Given the description of an element on the screen output the (x, y) to click on. 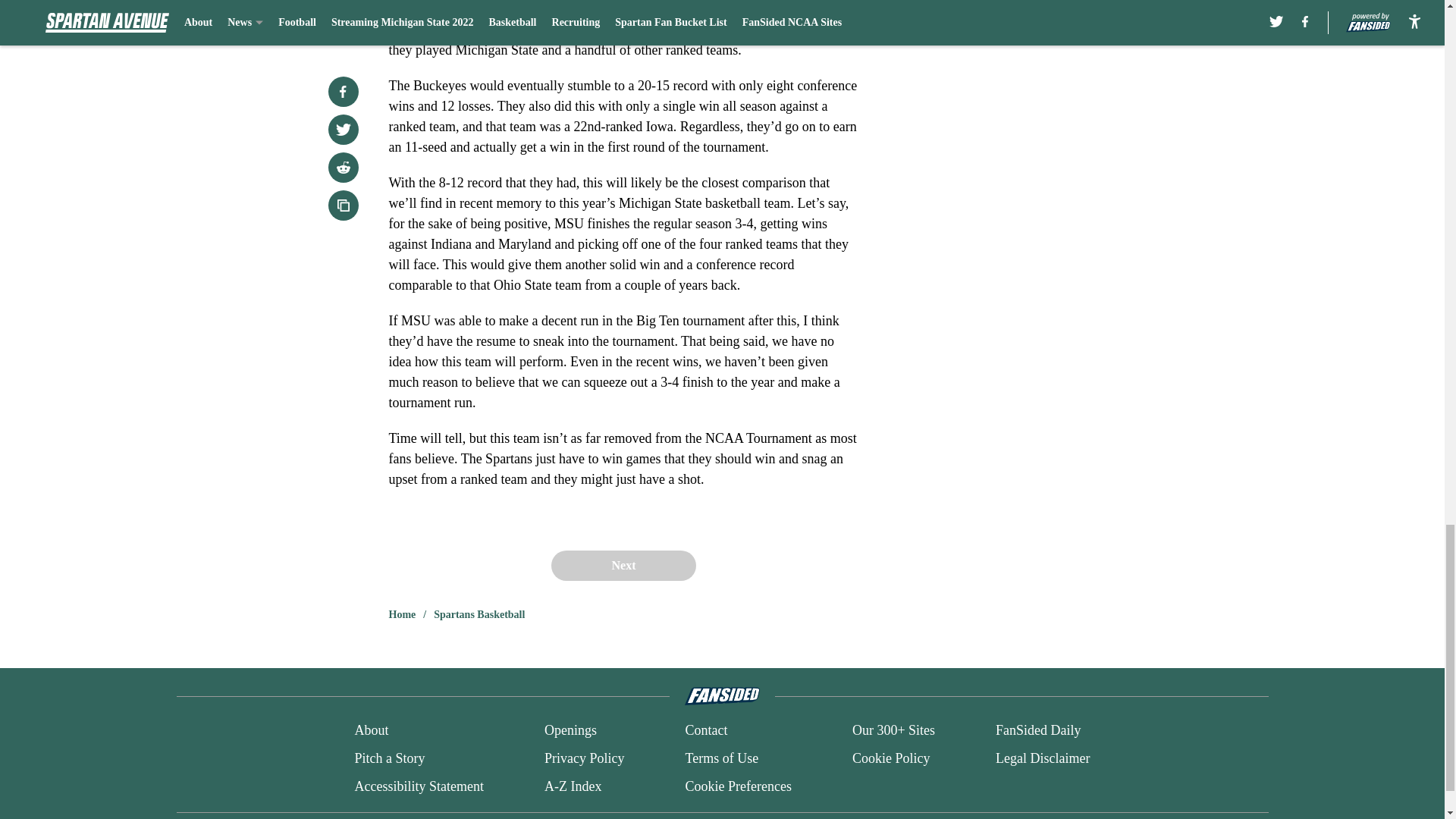
Next (622, 565)
Contact (705, 730)
Home (401, 614)
About (370, 730)
FanSided Daily (1038, 730)
Openings (570, 730)
Pitch a Story (389, 758)
Privacy Policy (584, 758)
Spartans Basketball (478, 614)
